Given the description of an element on the screen output the (x, y) to click on. 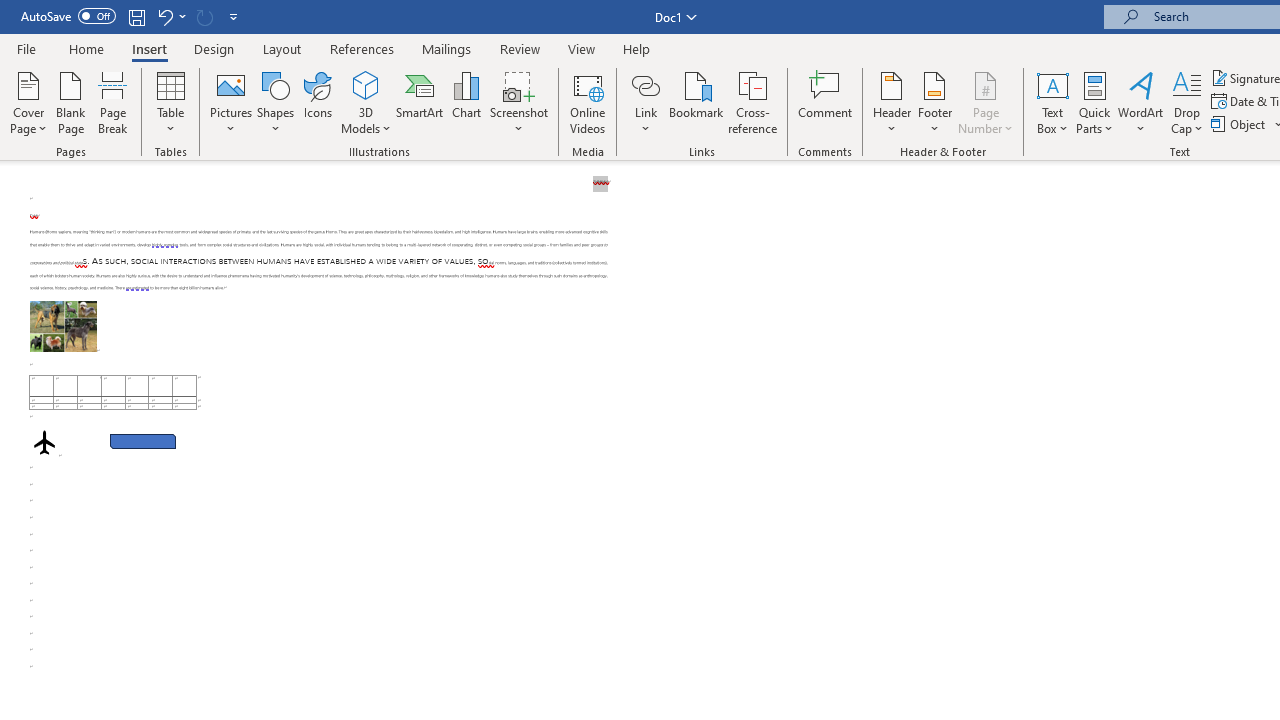
Link (645, 84)
Quick Parts (1094, 102)
Text Box (1052, 102)
Bookmark... (695, 102)
